Given the description of an element on the screen output the (x, y) to click on. 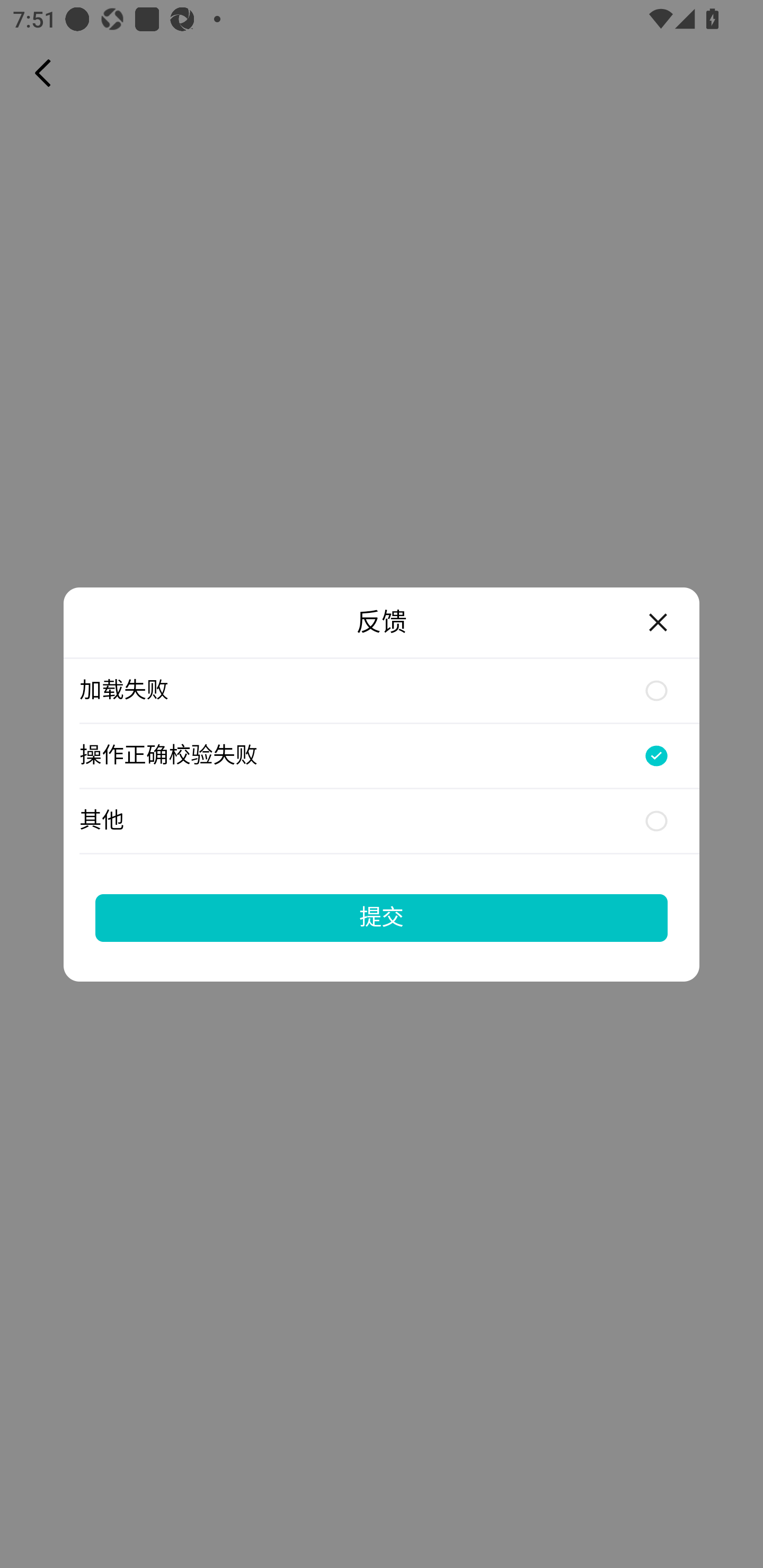
提交 (381, 917)
